Given the description of an element on the screen output the (x, y) to click on. 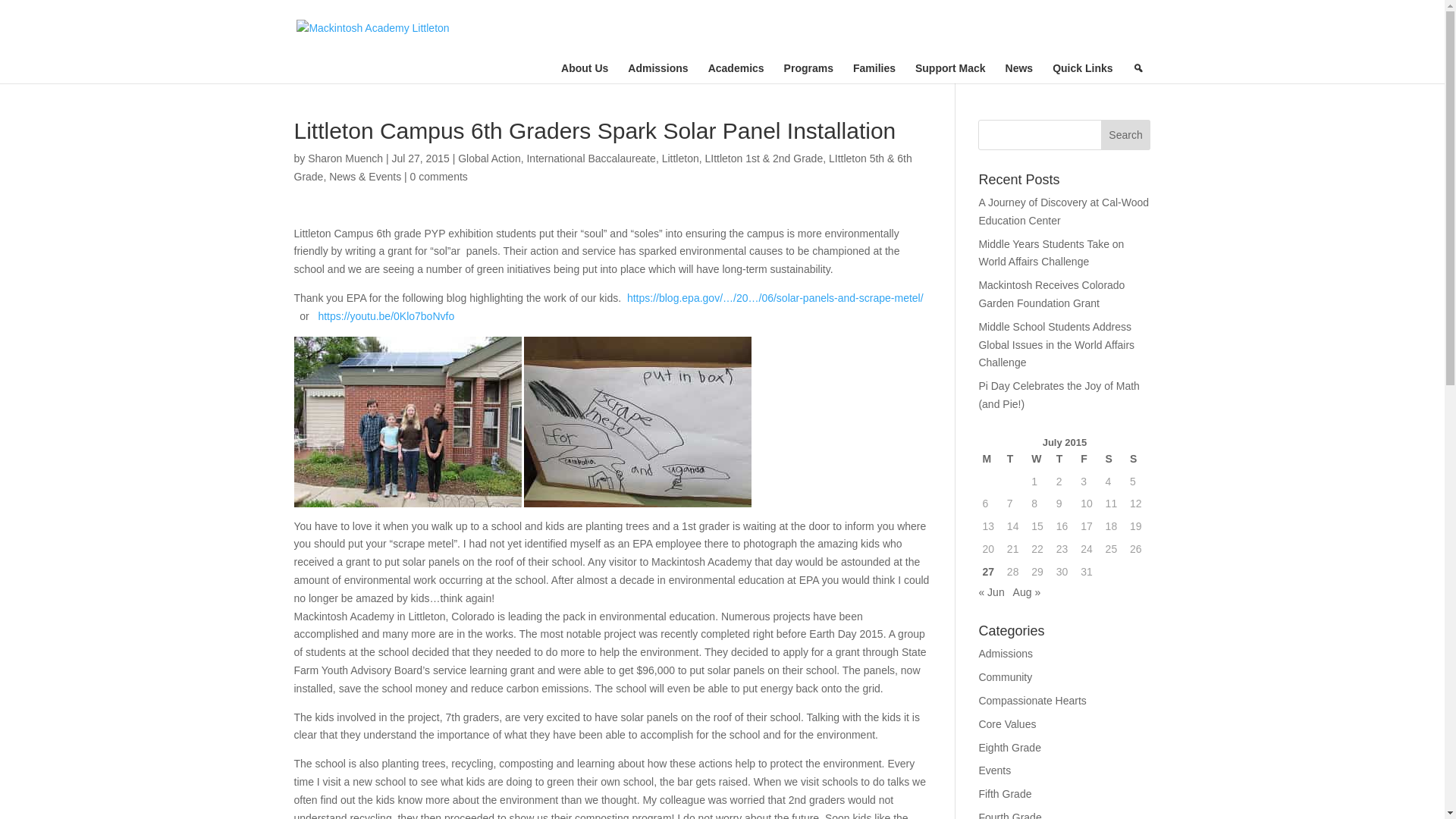
Admissions (660, 68)
Friday (1088, 458)
Tuesday (1015, 458)
Sunday (1137, 458)
About Us (586, 68)
Thursday (1064, 458)
Search (1125, 134)
Monday (990, 458)
Academics (738, 68)
Support Mack (952, 68)
